Given the description of an element on the screen output the (x, y) to click on. 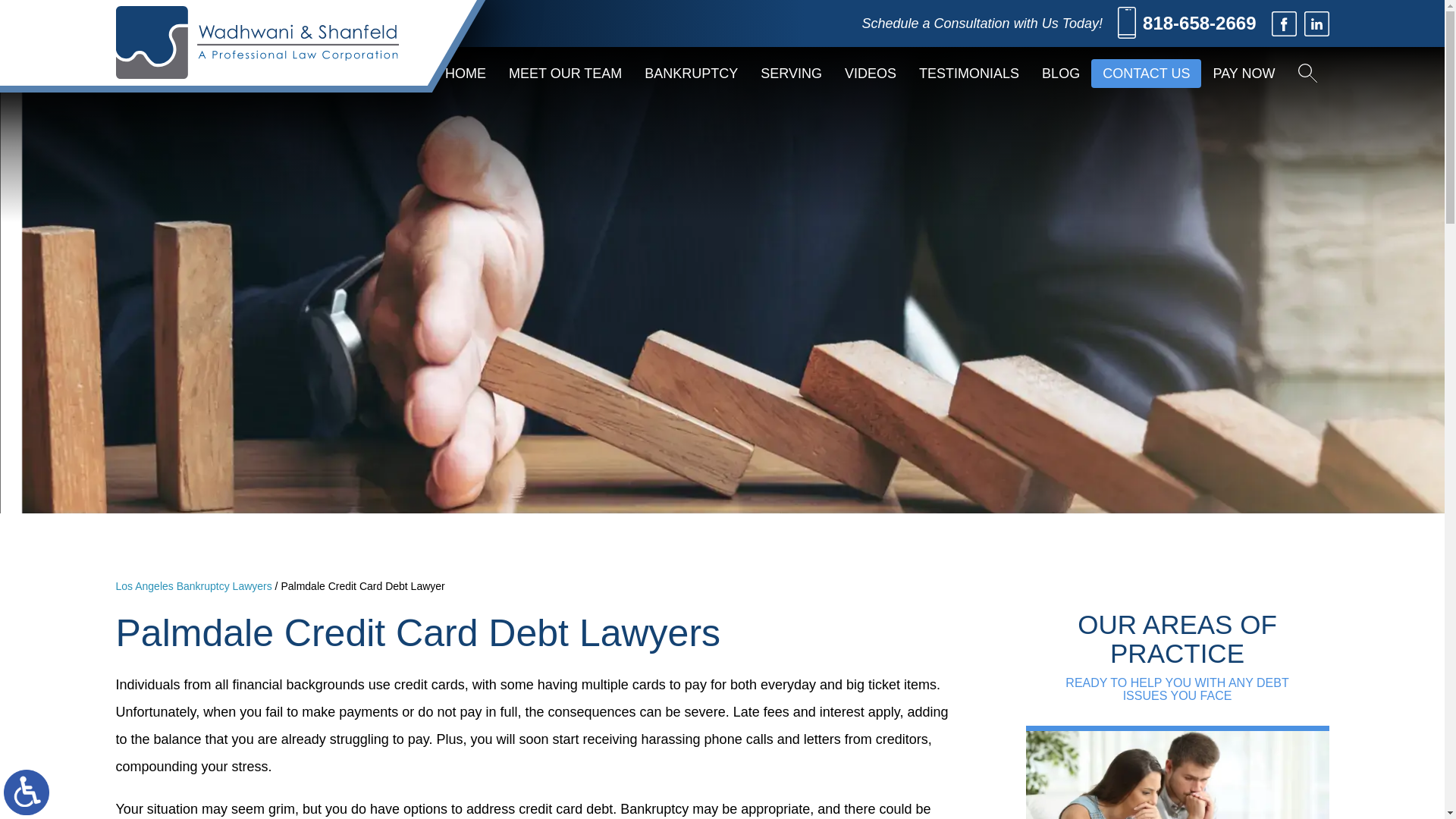
HOME (465, 72)
Switch to ADA Accessible Theme (26, 791)
BANKRUPTCY (691, 72)
818-658-2669 (1186, 23)
MEET OUR TEAM (565, 72)
